Given the description of an element on the screen output the (x, y) to click on. 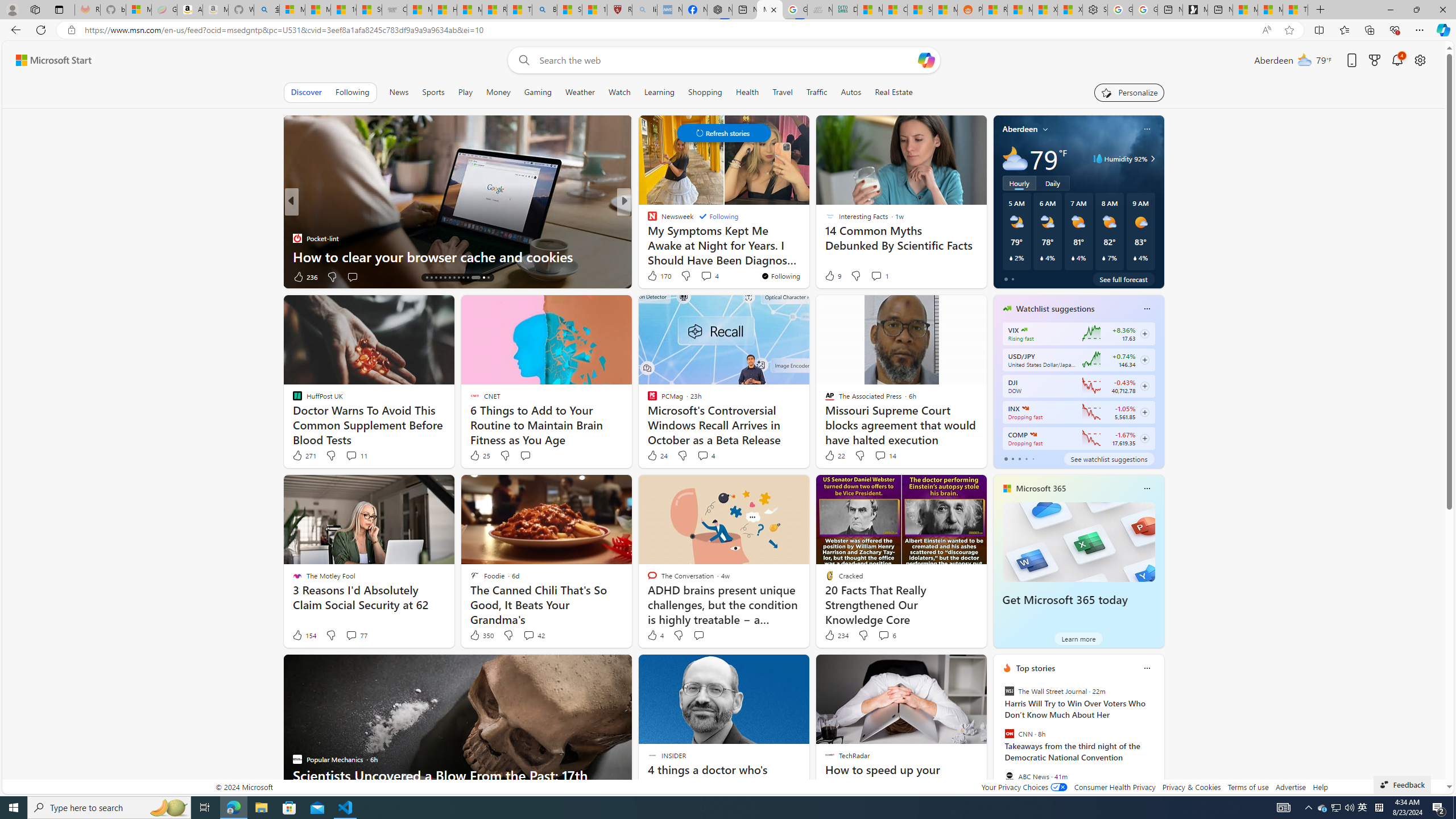
Personalize your feed" (1129, 92)
Gaming (537, 92)
Learning (658, 92)
Web search (520, 60)
Combat Siege (394, 9)
Hide this story (841, 668)
Sports (432, 92)
234 Like (835, 634)
Gaming (537, 92)
